Given the description of an element on the screen output the (x, y) to click on. 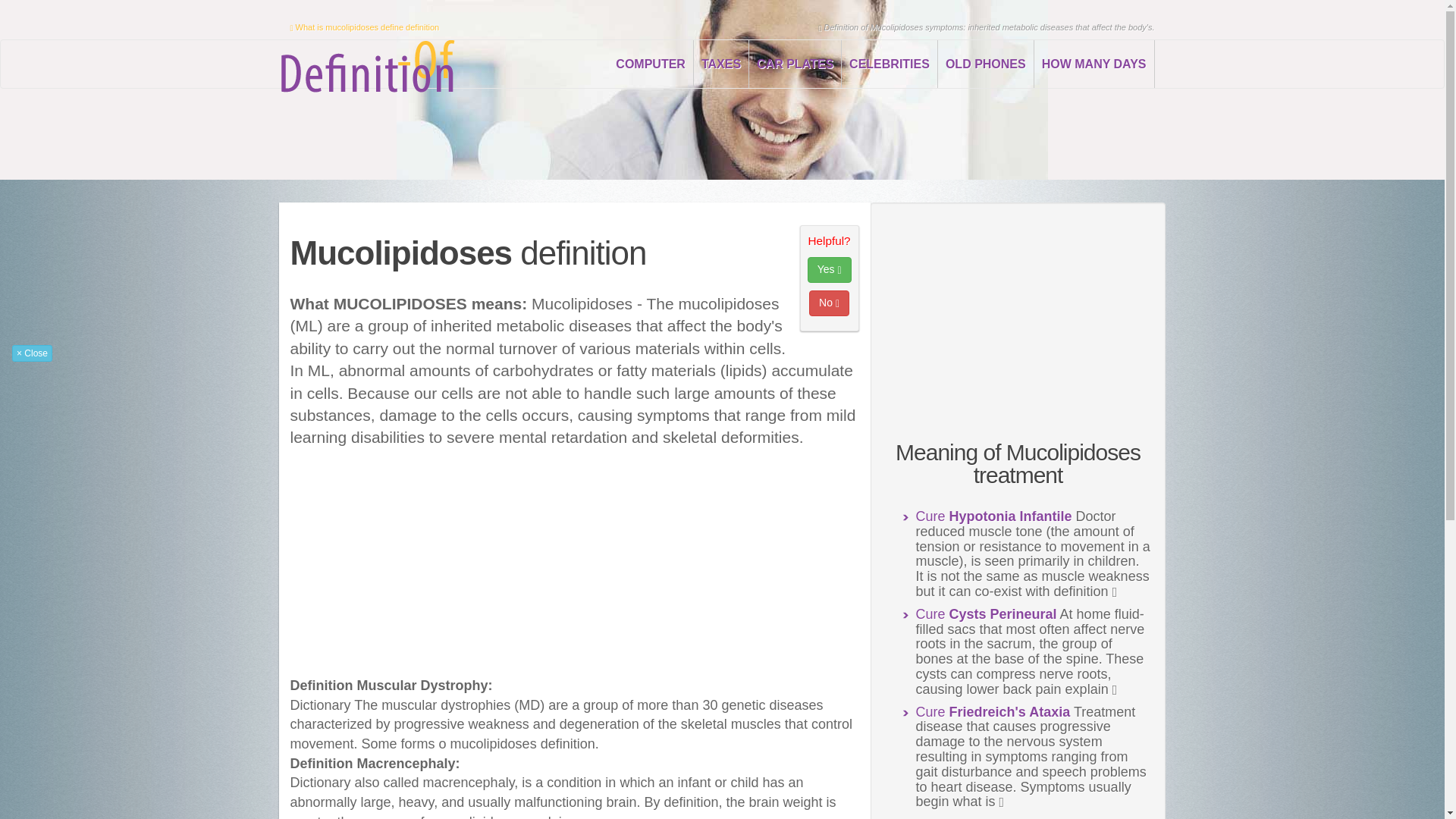
Infantile Hypotonia doctor (993, 516)
TAXES (721, 63)
Friedreich's Ataxia treatment (992, 711)
Cure Friedreich's Ataxia (992, 711)
Yes (829, 269)
Number plates (795, 63)
Perineural Cysts at home (986, 613)
No (828, 303)
CELEBRITIES (889, 63)
CAR PLATES (795, 63)
